Given the description of an element on the screen output the (x, y) to click on. 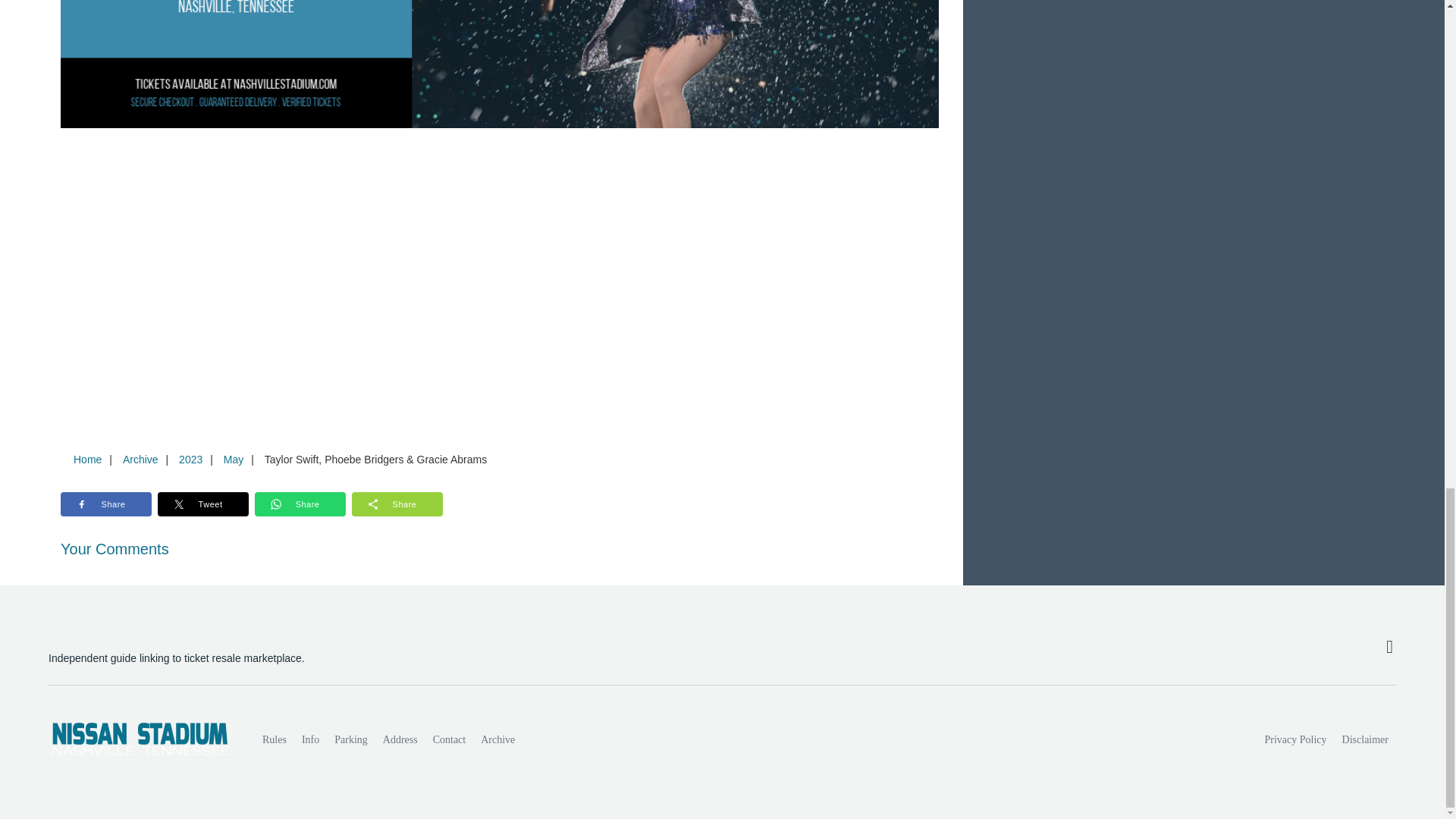
Disclaimer (1365, 739)
May (232, 459)
2023 (190, 459)
Archive (497, 739)
Parking (350, 739)
Archive (140, 459)
Privacy Policy (1296, 739)
Rules (274, 739)
Address (400, 739)
Info (310, 739)
Contact (449, 739)
Home (87, 459)
